Given the description of an element on the screen output the (x, y) to click on. 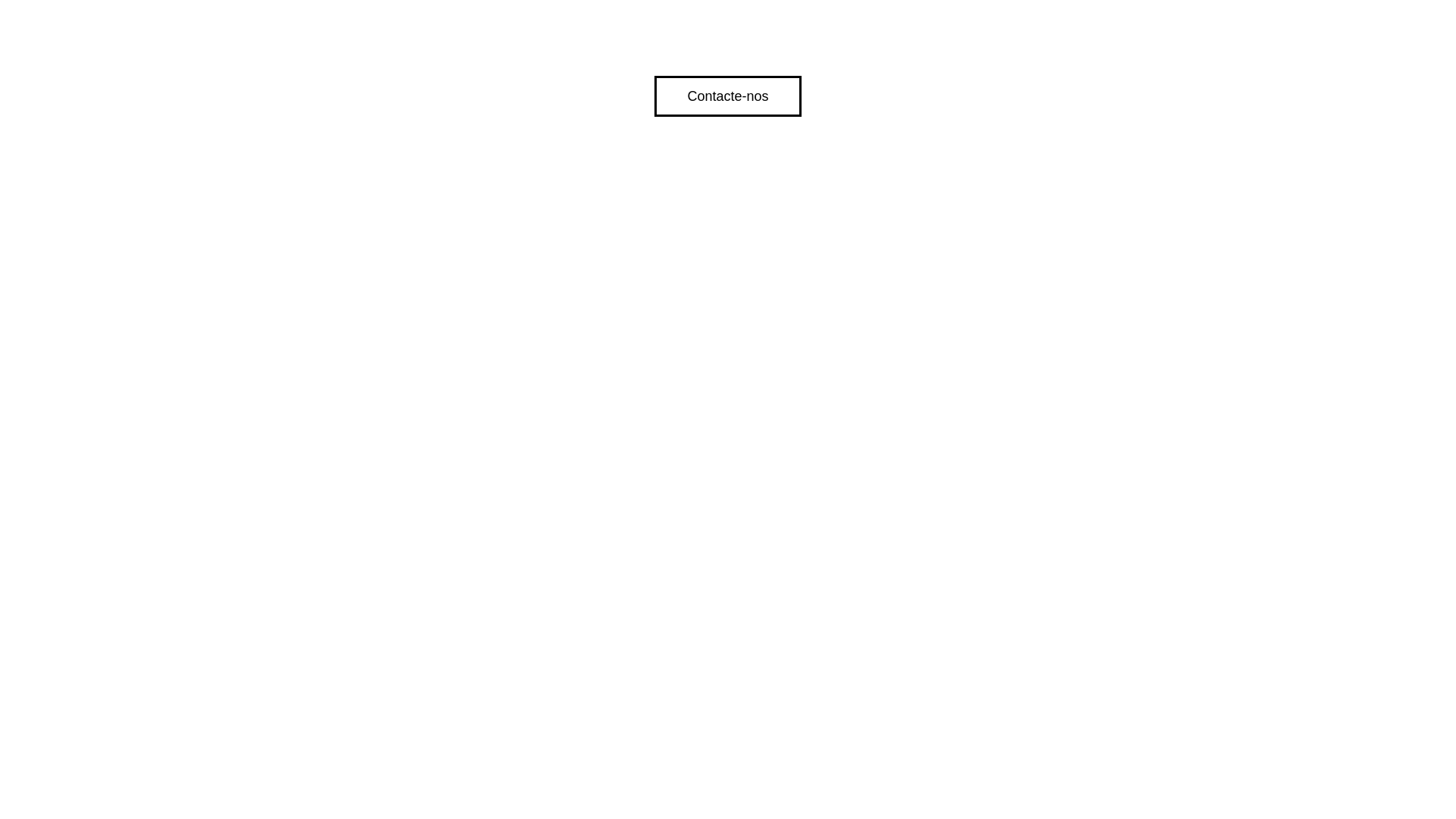
Contacte-nos Element type: text (727, 95)
